Given the description of an element on the screen output the (x, y) to click on. 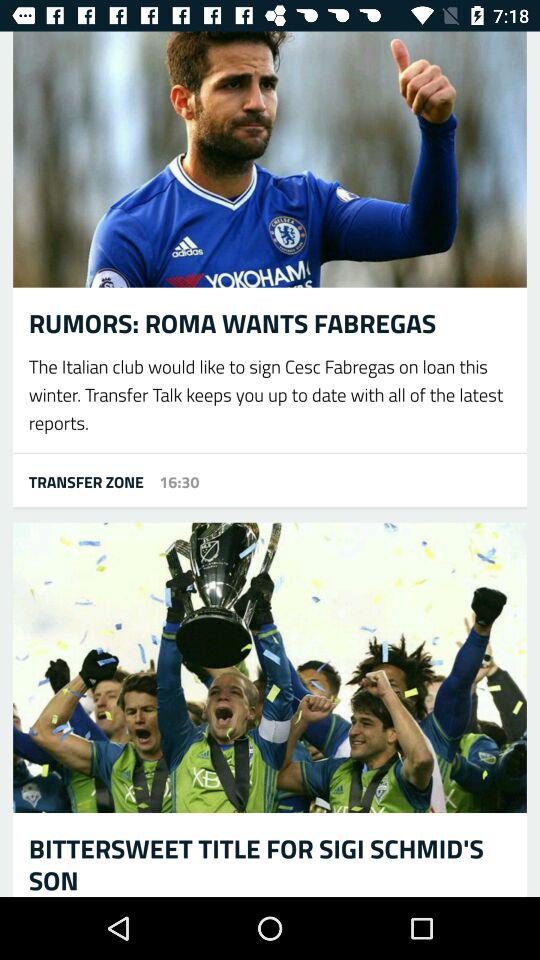
launch the icon to the left of 16:30 (78, 481)
